Given the description of an element on the screen output the (x, y) to click on. 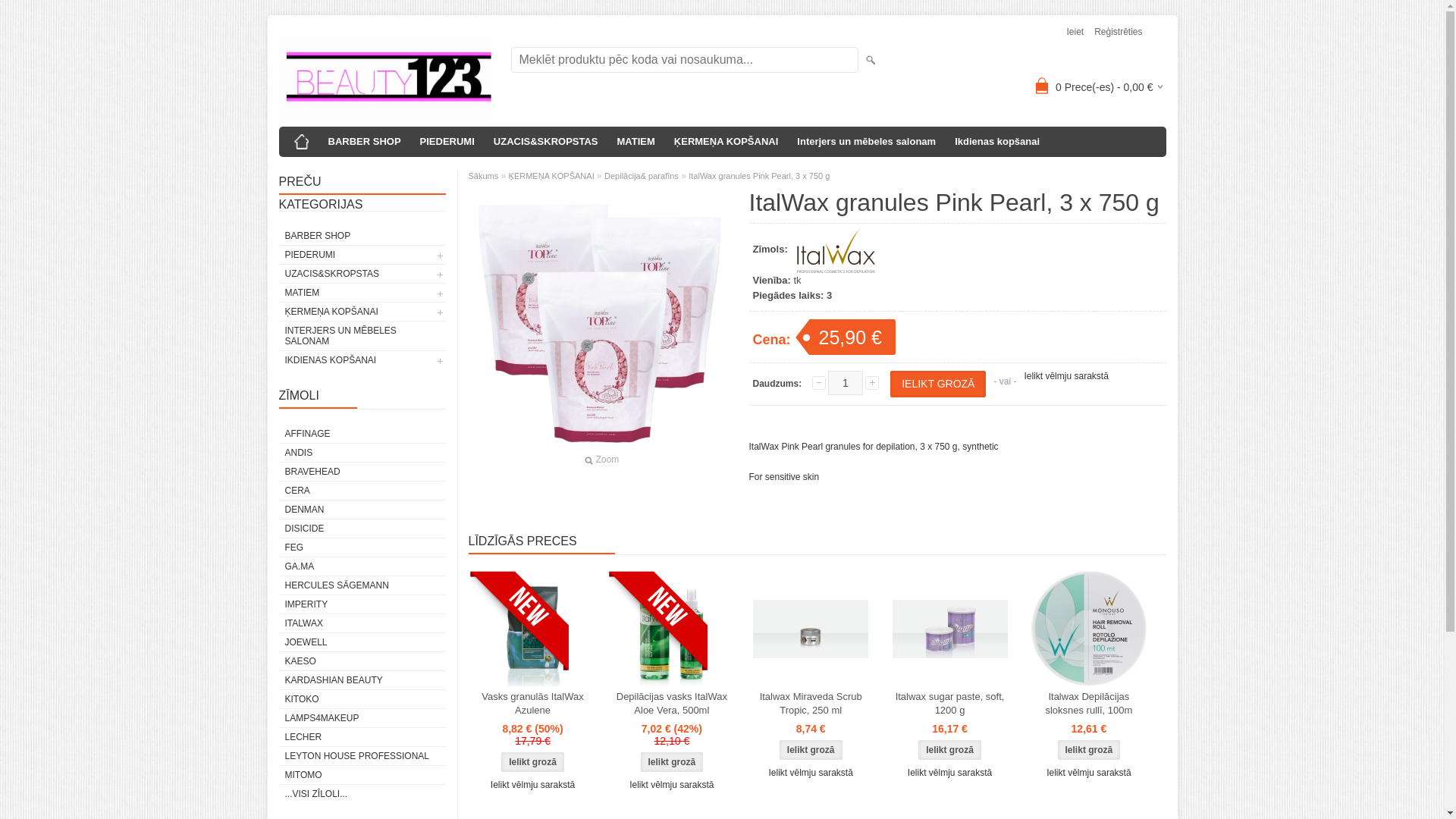
BARBER SHOP (363, 141)
PIEDERUMI (446, 141)
1 (845, 382)
ItalWax (835, 249)
Ieiet (1074, 31)
MATIEM (636, 141)
